Given the description of an element on the screen output the (x, y) to click on. 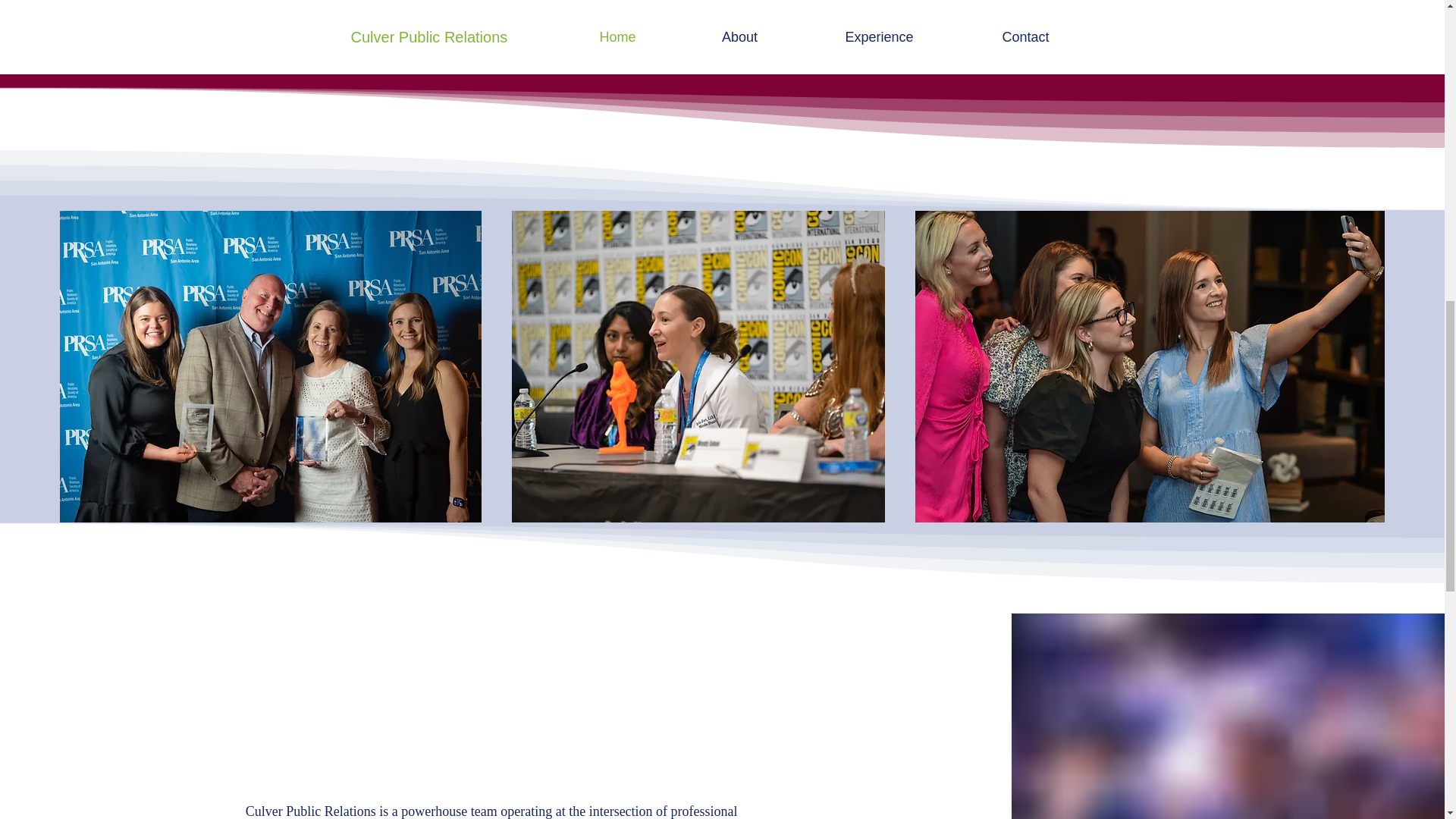
See the Results (934, 26)
Explore our Services (720, 28)
Meet the Team (508, 28)
